Given the description of an element on the screen output the (x, y) to click on. 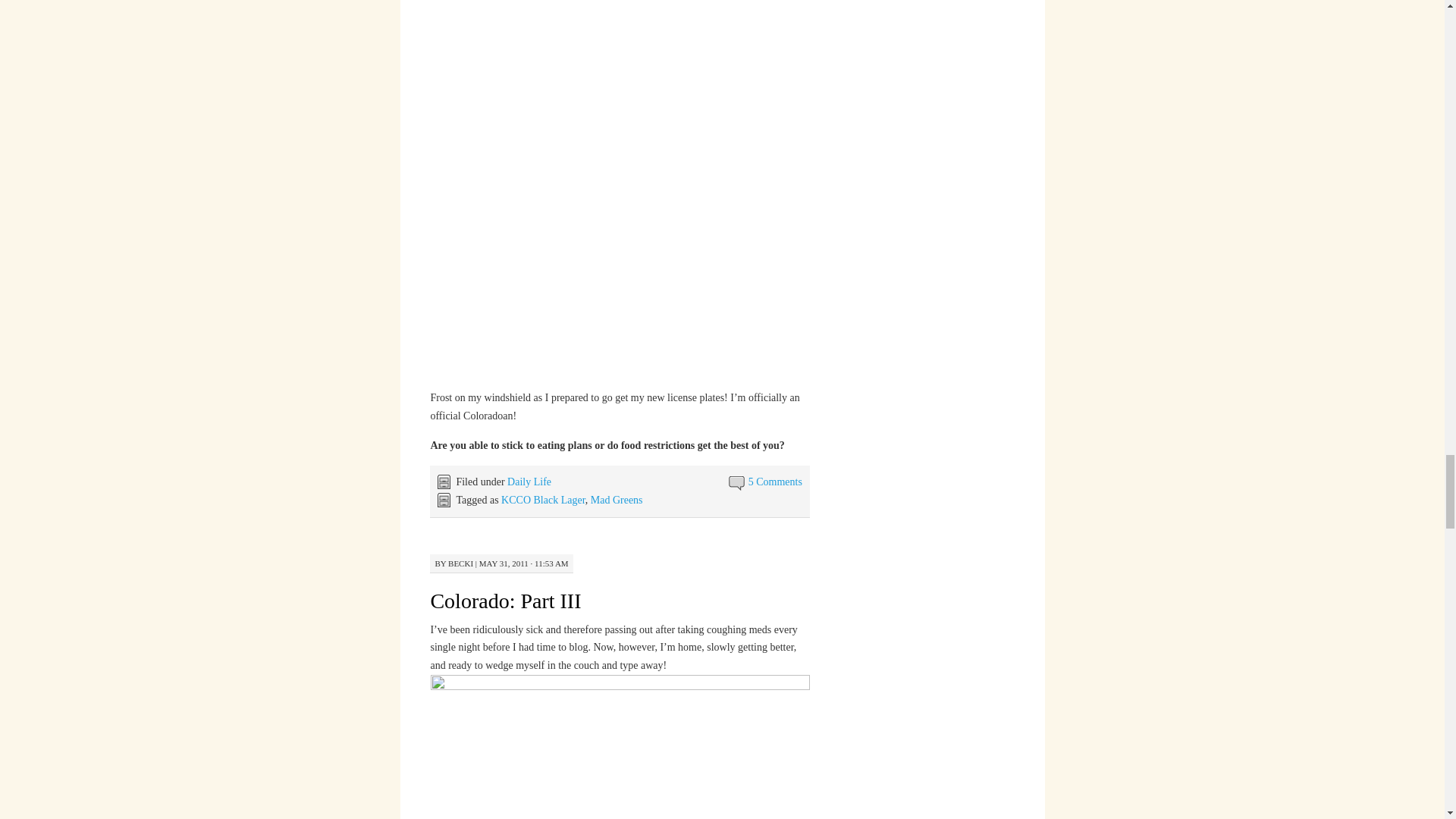
Colorado: Part III (504, 600)
Mad Greens (617, 500)
View all posts by Becki (460, 563)
BECKI (460, 563)
5 Comments (775, 481)
KCCO Black Lager (542, 500)
Daily Life (528, 481)
AM1 (619, 746)
